Given the description of an element on the screen output the (x, y) to click on. 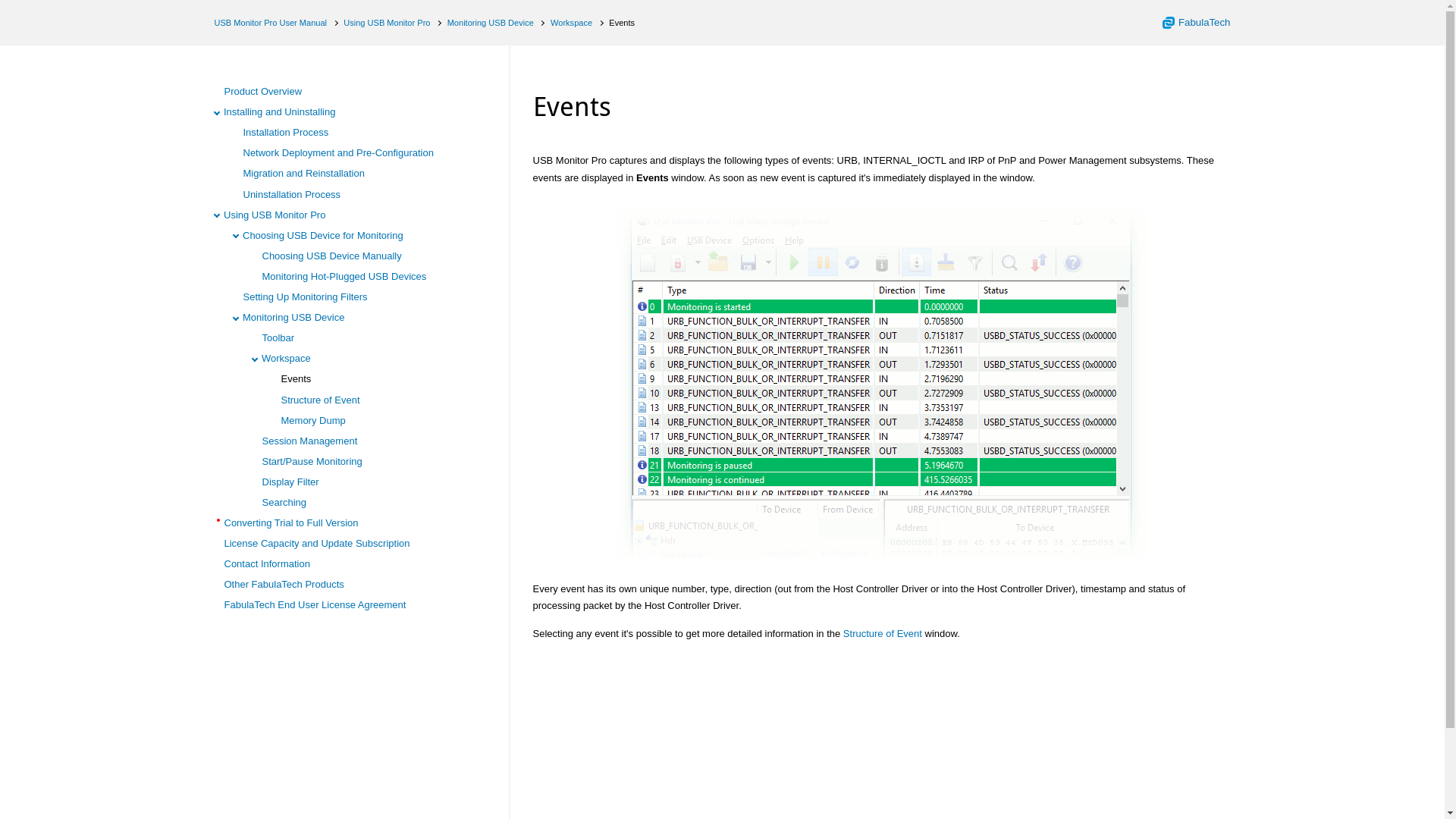
Events (296, 378)
Uninstallation Process (291, 194)
Contact Information (267, 563)
Structure of Event (882, 633)
Setting Up Monitoring Filters (304, 296)
Memory Dump (313, 419)
Structure of Event (320, 399)
Network Deployment and Pre-Configuration (337, 152)
Monitoring Hot-Plugged USB Devices (344, 276)
Searching (284, 501)
FabulaTech (1195, 22)
Product Overview (263, 91)
Workspace (571, 22)
Toolbar (278, 337)
Converting Trial to Full Version (291, 522)
